Given the description of an element on the screen output the (x, y) to click on. 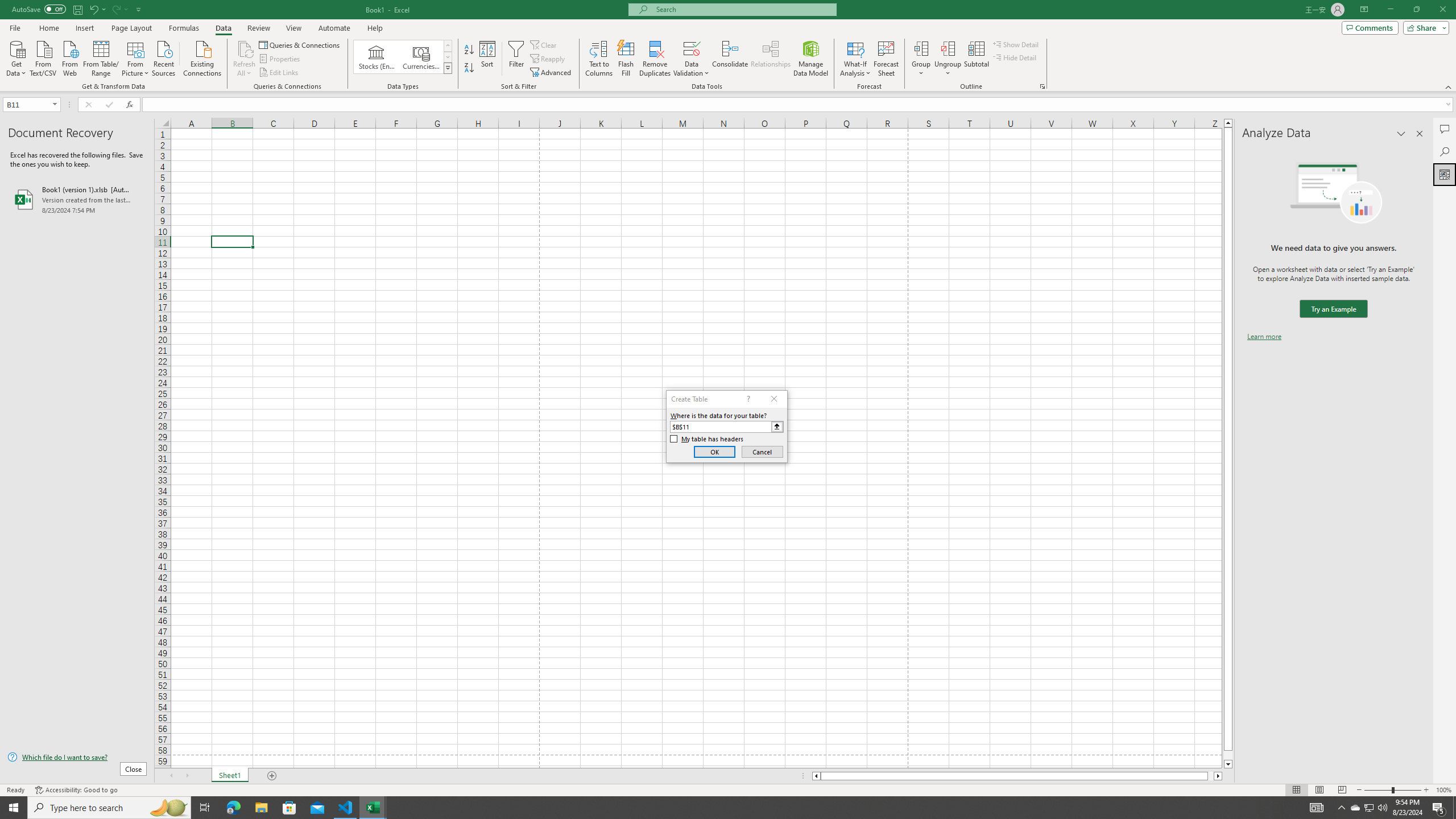
Share (1423, 27)
Line down (1228, 764)
What-If Analysis (855, 58)
Manage Data Model (810, 58)
From Table/Range (100, 57)
Data Types (448, 67)
Show Detail (1016, 44)
Relationships (770, 58)
Zoom Out (1377, 790)
Refresh All (244, 48)
Formula Bar (799, 104)
Group and Outline Settings (1042, 85)
Review (258, 28)
